Given the description of an element on the screen output the (x, y) to click on. 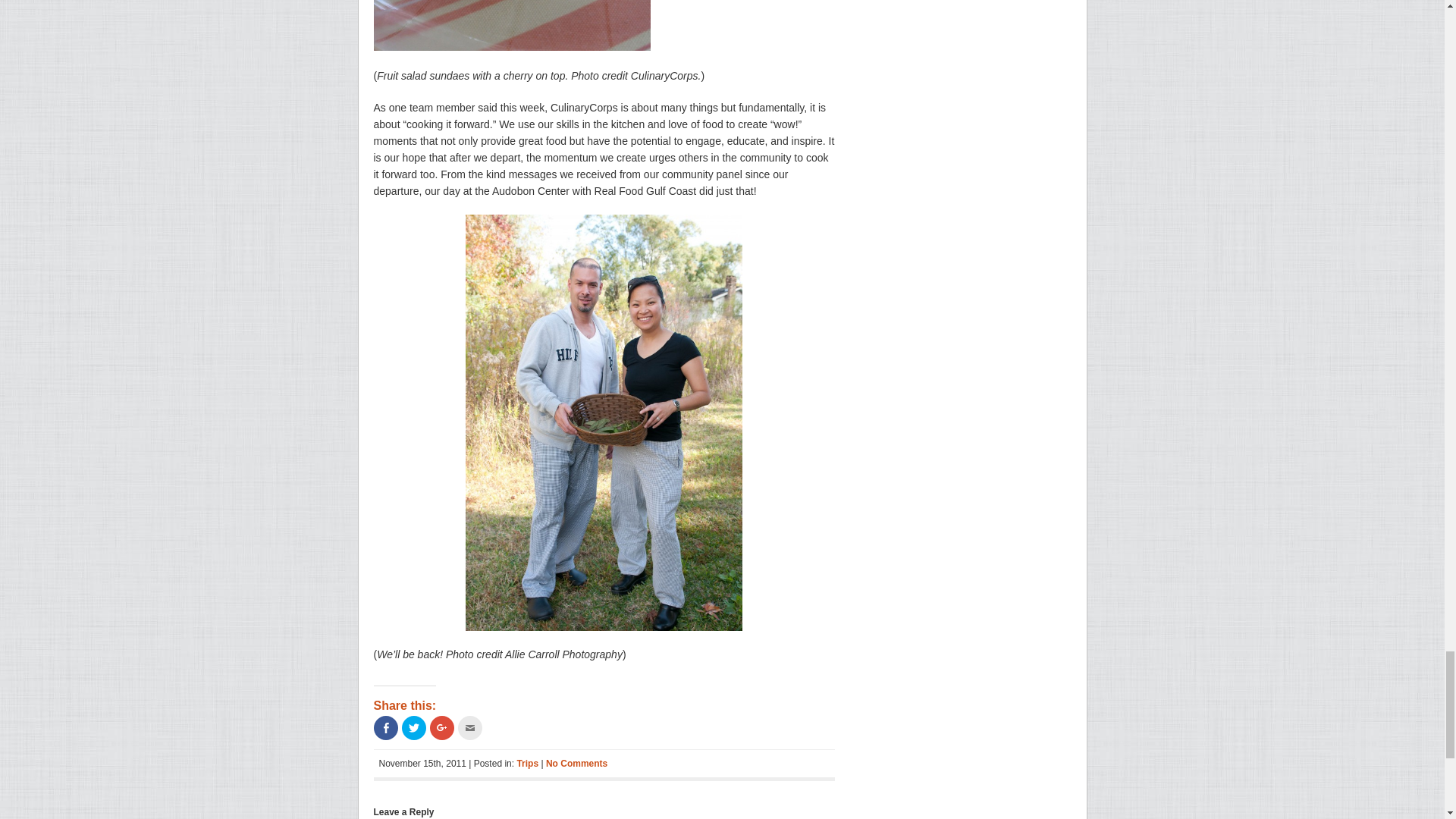
IMAG2704 (510, 25)
Trips (527, 763)
Click to share on Facebook (384, 727)
No Comments (576, 763)
